Given the description of an element on the screen output the (x, y) to click on. 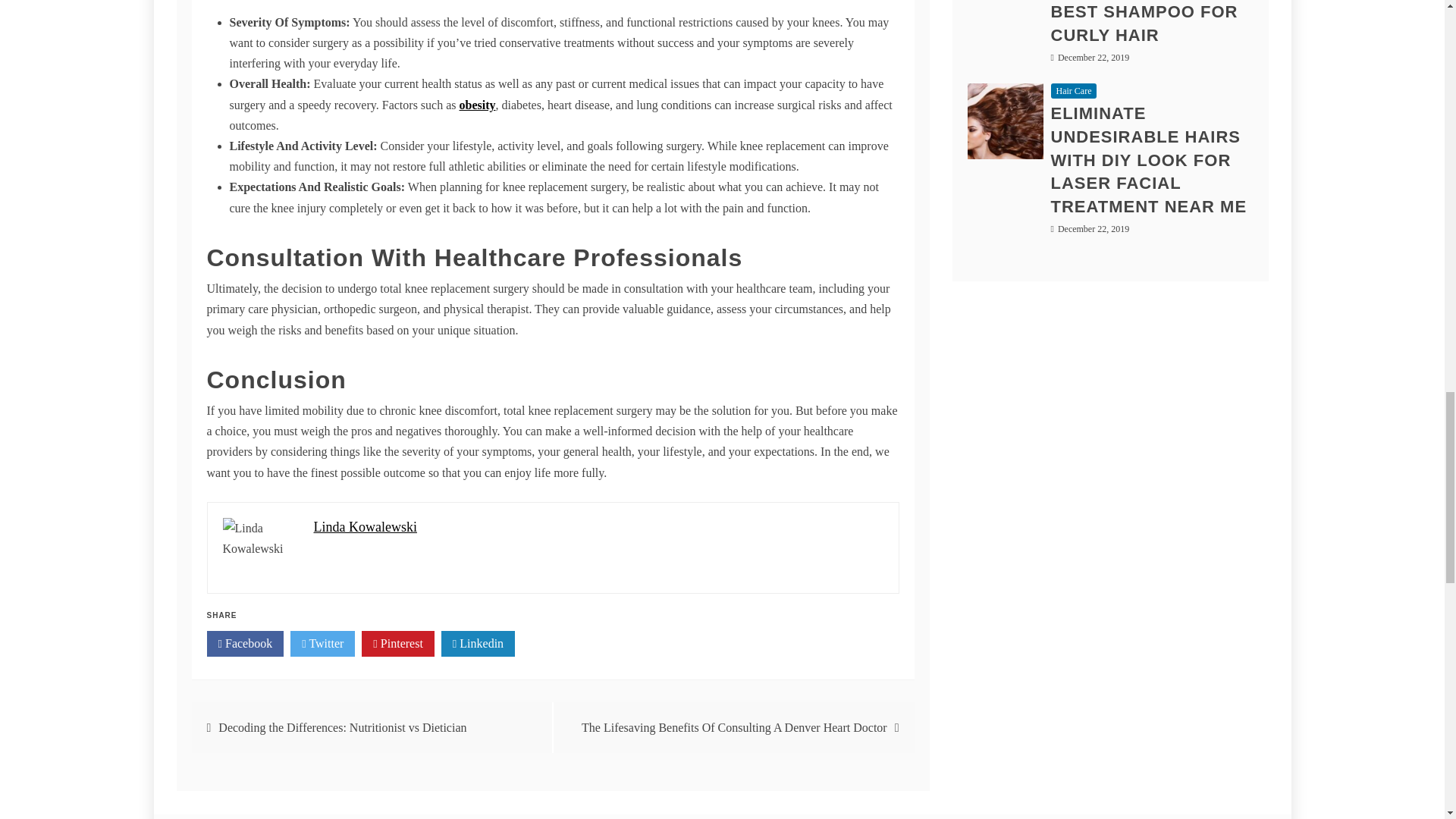
Linda Kowalewski (365, 526)
Facebook (244, 643)
Twitter (322, 643)
obesity (478, 104)
Pinterest (397, 643)
The Lifesaving Benefits Of Consulting A Denver Heart Doctor (733, 727)
Decoding the Differences: Nutritionist vs Dietician (341, 727)
Linkedin (478, 643)
